Given the description of an element on the screen output the (x, y) to click on. 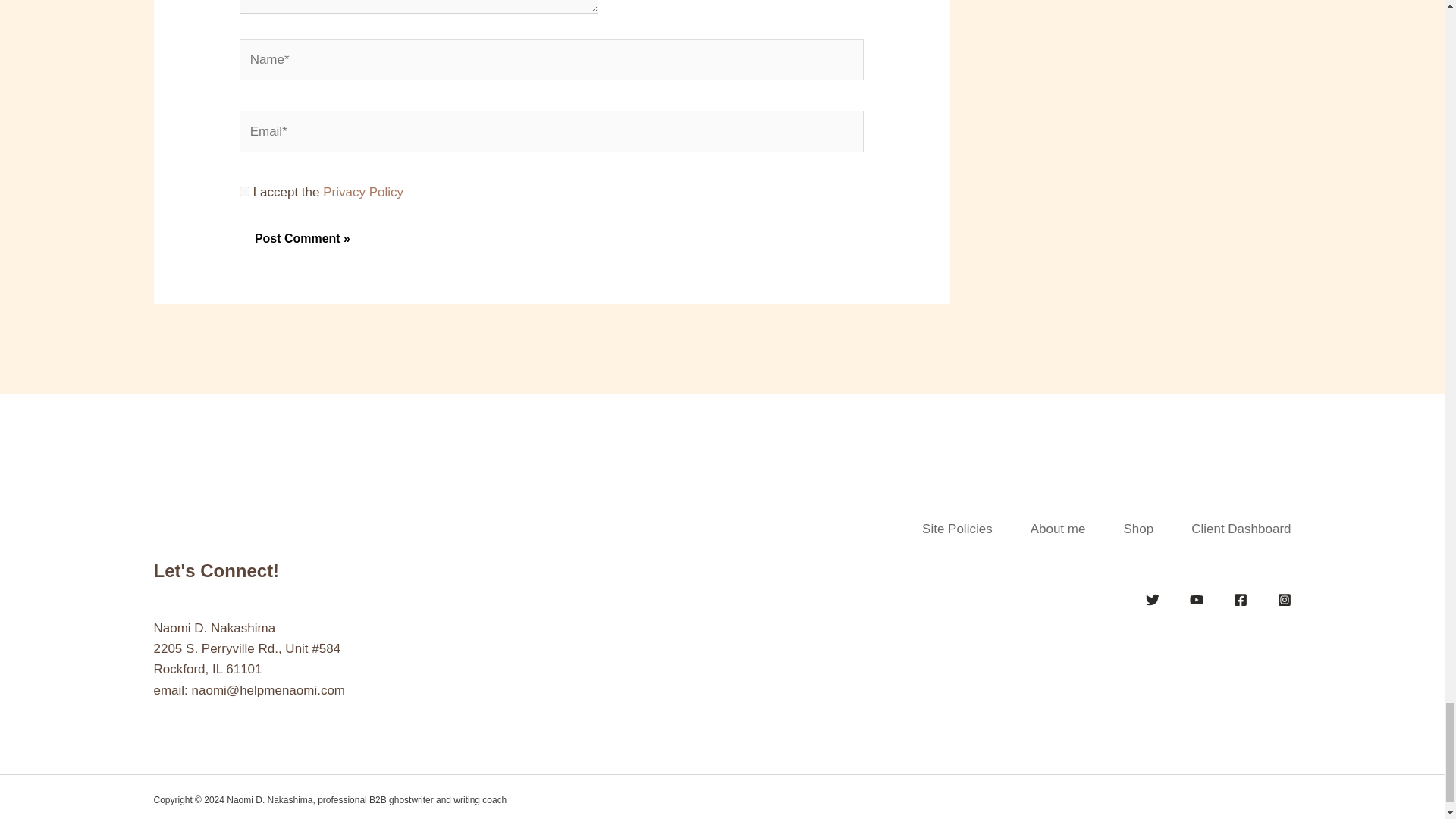
1 (244, 191)
